Given the description of an element on the screen output the (x, y) to click on. 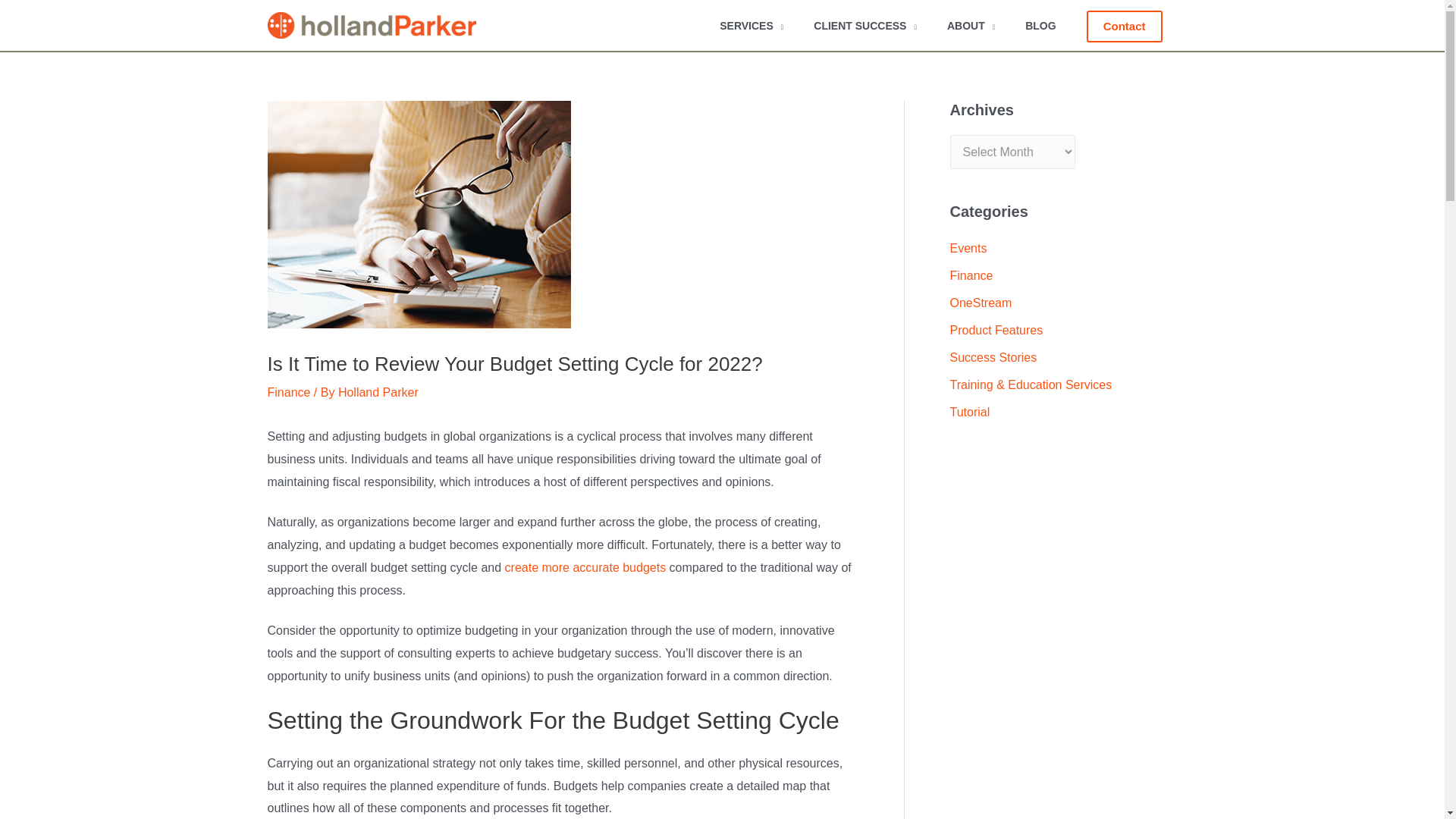
CLIENT SUCCESS (864, 25)
Contact (1123, 26)
View all posts by Holland Parker (378, 391)
Is It Time to Review Your Budget Setting Cycle for 2022? 2 (418, 214)
ABOUT (970, 25)
SERVICES (750, 25)
BLOG (1040, 25)
